Given the description of an element on the screen output the (x, y) to click on. 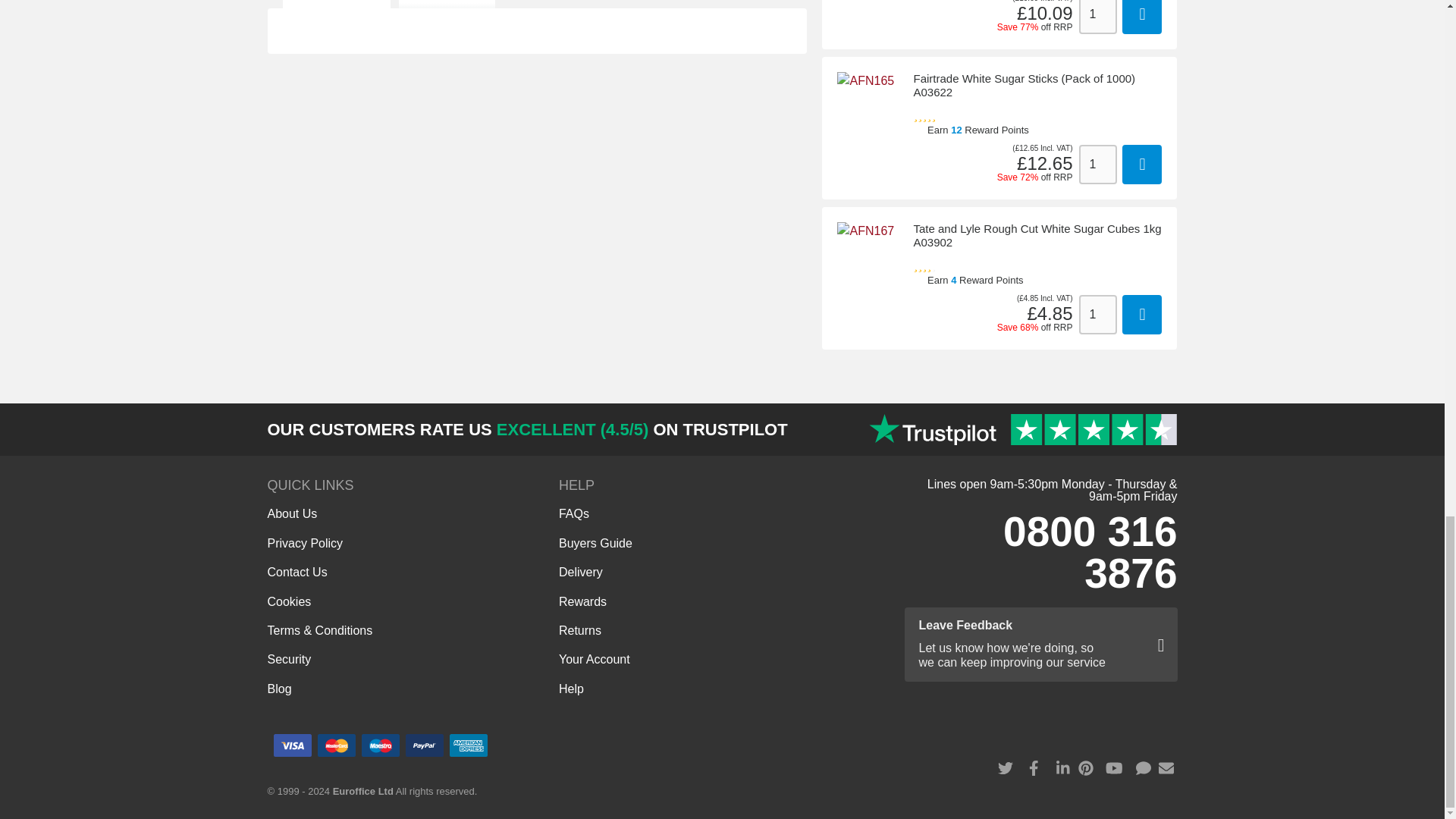
1 (1097, 17)
1 (1097, 164)
1 (1097, 314)
